Given the description of an element on the screen output the (x, y) to click on. 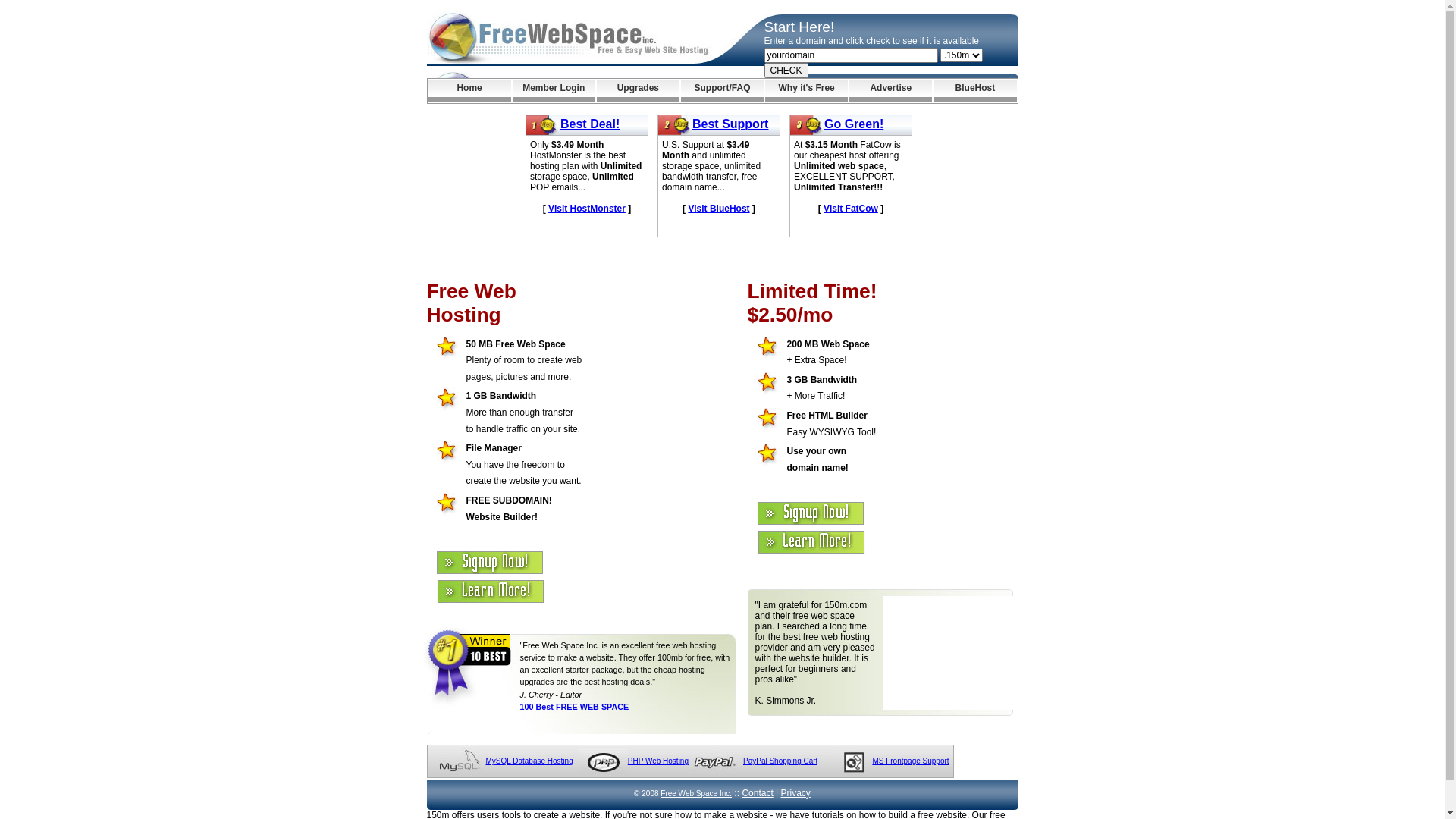
Why it's Free Element type: text (806, 90)
PHP Web Hosting Element type: text (657, 760)
MS Frontpage Support Element type: text (910, 760)
PayPal Shopping Cart Element type: text (780, 760)
Contact Element type: text (756, 792)
Upgrades Element type: text (637, 90)
BlueHost Element type: text (974, 90)
Privacy Element type: text (795, 792)
CHECK Element type: text (786, 70)
Member Login Element type: text (553, 90)
MySQL Database Hosting Element type: text (528, 760)
Support/FAQ Element type: text (721, 90)
Free Web Space Inc. Element type: text (695, 793)
100 Best FREE WEB SPACE Element type: text (574, 706)
Advertise Element type: text (890, 90)
Home Element type: text (468, 90)
